Given the description of an element on the screen output the (x, y) to click on. 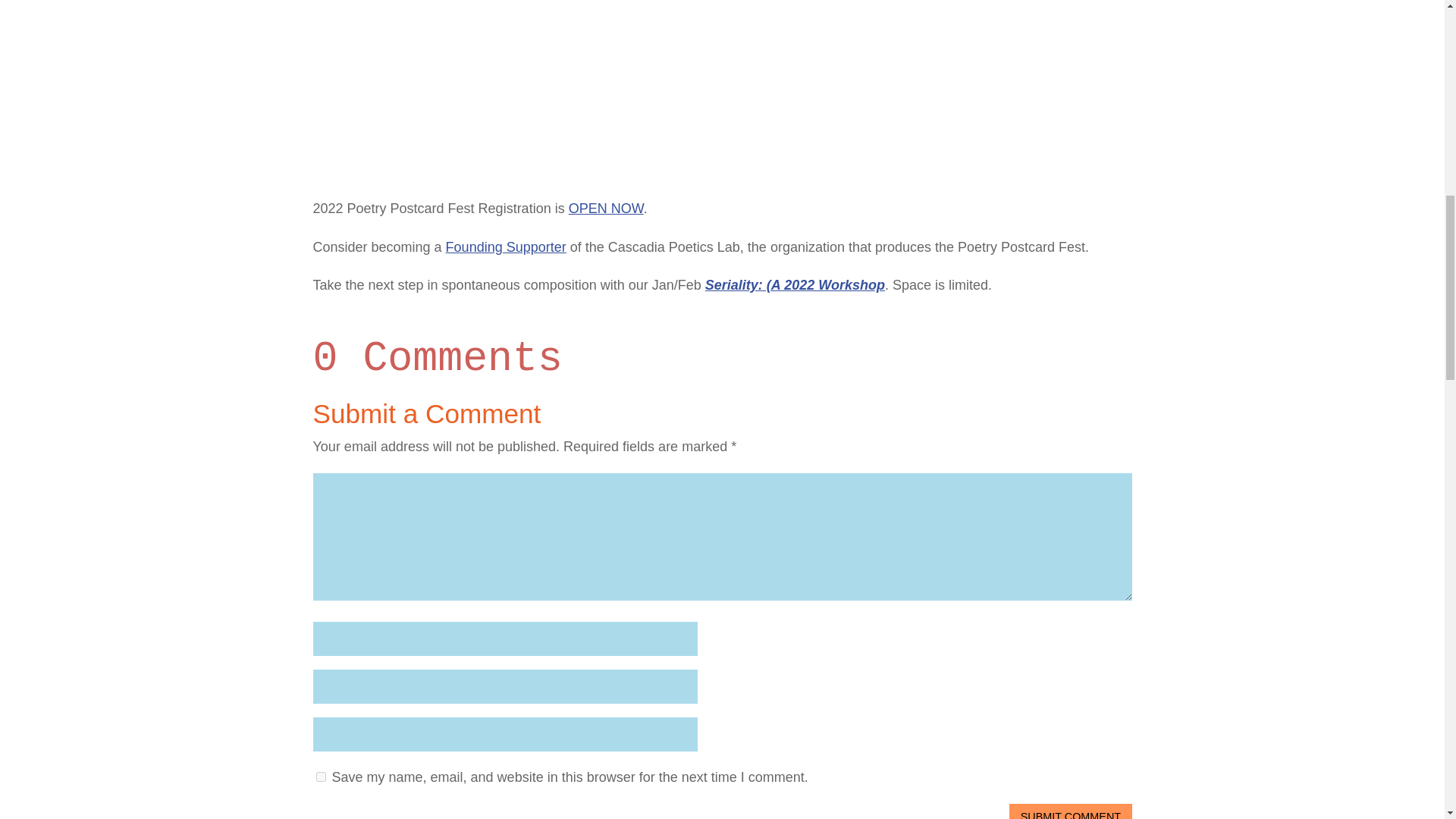
yes (319, 777)
